Given the description of an element on the screen output the (x, y) to click on. 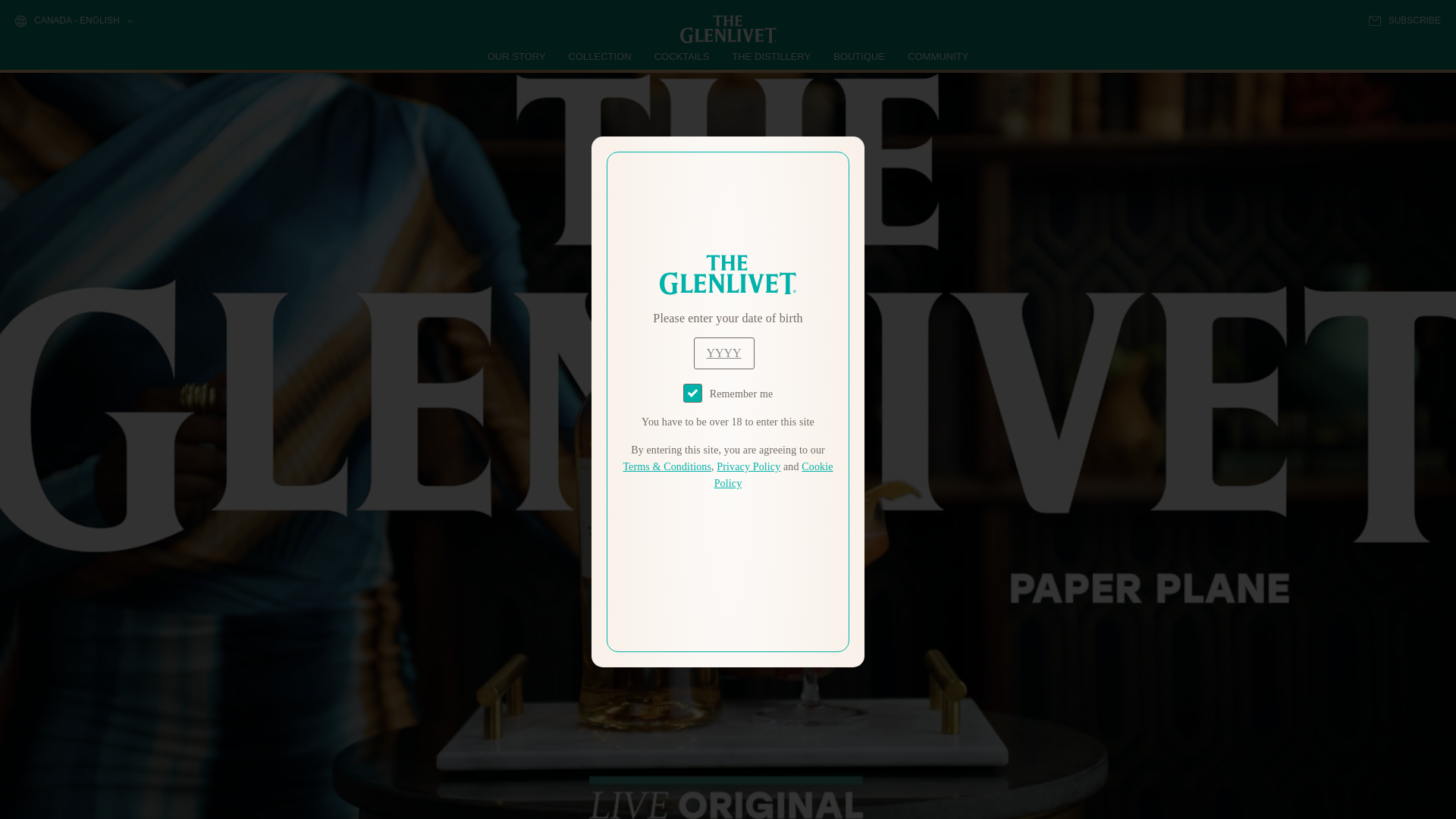
Cookie Policy (773, 474)
THE DISTILLERY (771, 56)
CANADA - ENGLISH (73, 21)
Privacy Policy (748, 466)
BOUTIQUE (858, 56)
COCKTAILS (681, 56)
COLLECTION (600, 56)
OUR STORY (516, 56)
SUBSCRIBE (1404, 20)
year (723, 353)
